Given the description of an element on the screen output the (x, y) to click on. 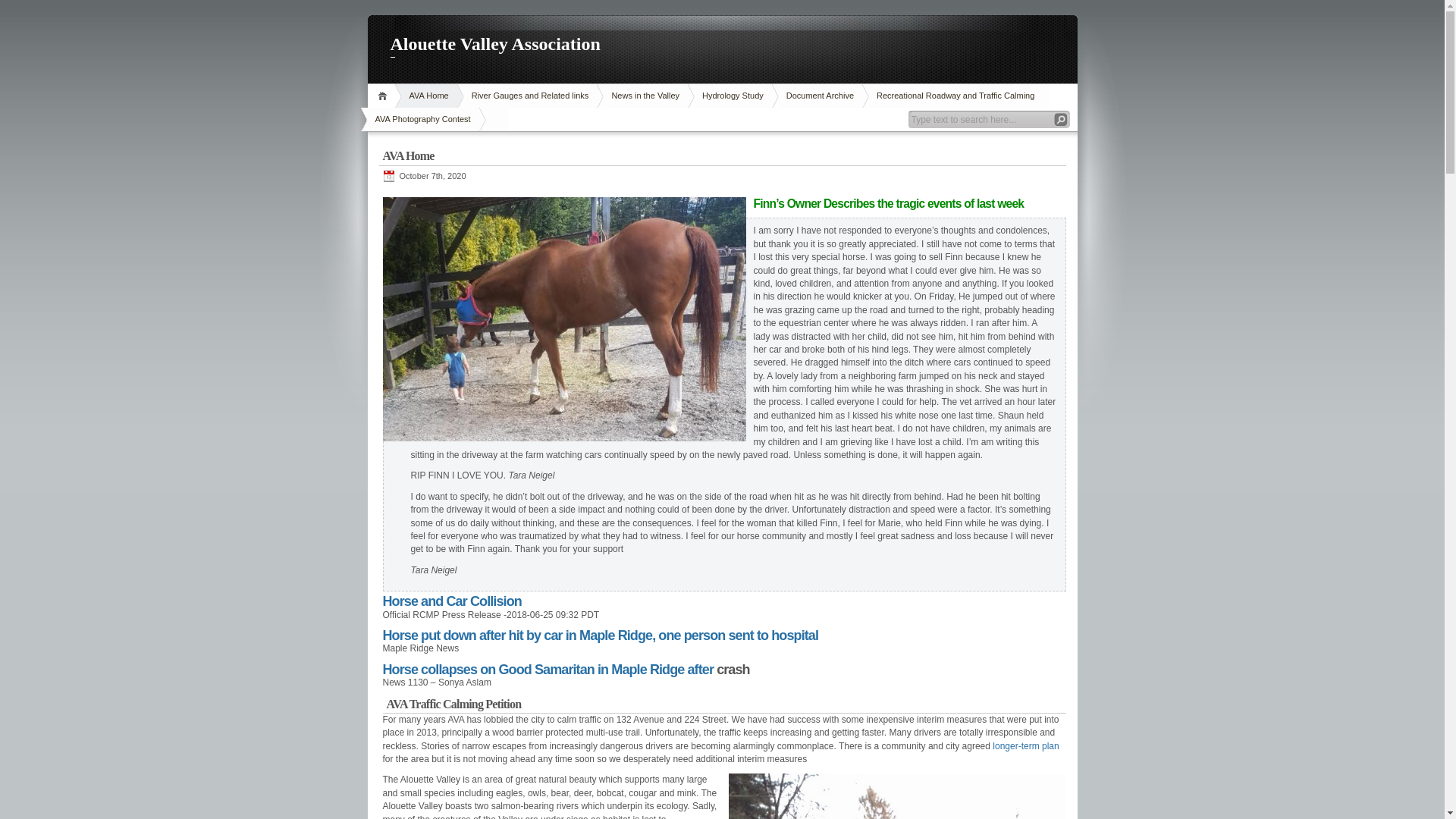
Horse and Car Collision Element type: text (451, 600)
Horse collapses on Good Samaritan in Maple Ridge after Element type: text (549, 669)
Hydrology Study Element type: text (732, 95)
Home Element type: text (384, 95)
longer-term plan Element type: text (1025, 745)
Document Archive Element type: text (820, 95)
AVA Photography Contest Element type: text (422, 119)
News in the Valley Element type: text (645, 95)
River Gauges and Related links Element type: text (530, 95)
AVA Home Element type: text (429, 95)
Alouette Valley Association Element type: text (721, 45)
Recreational Roadway and Traffic Calming Element type: text (955, 95)
